Given the description of an element on the screen output the (x, y) to click on. 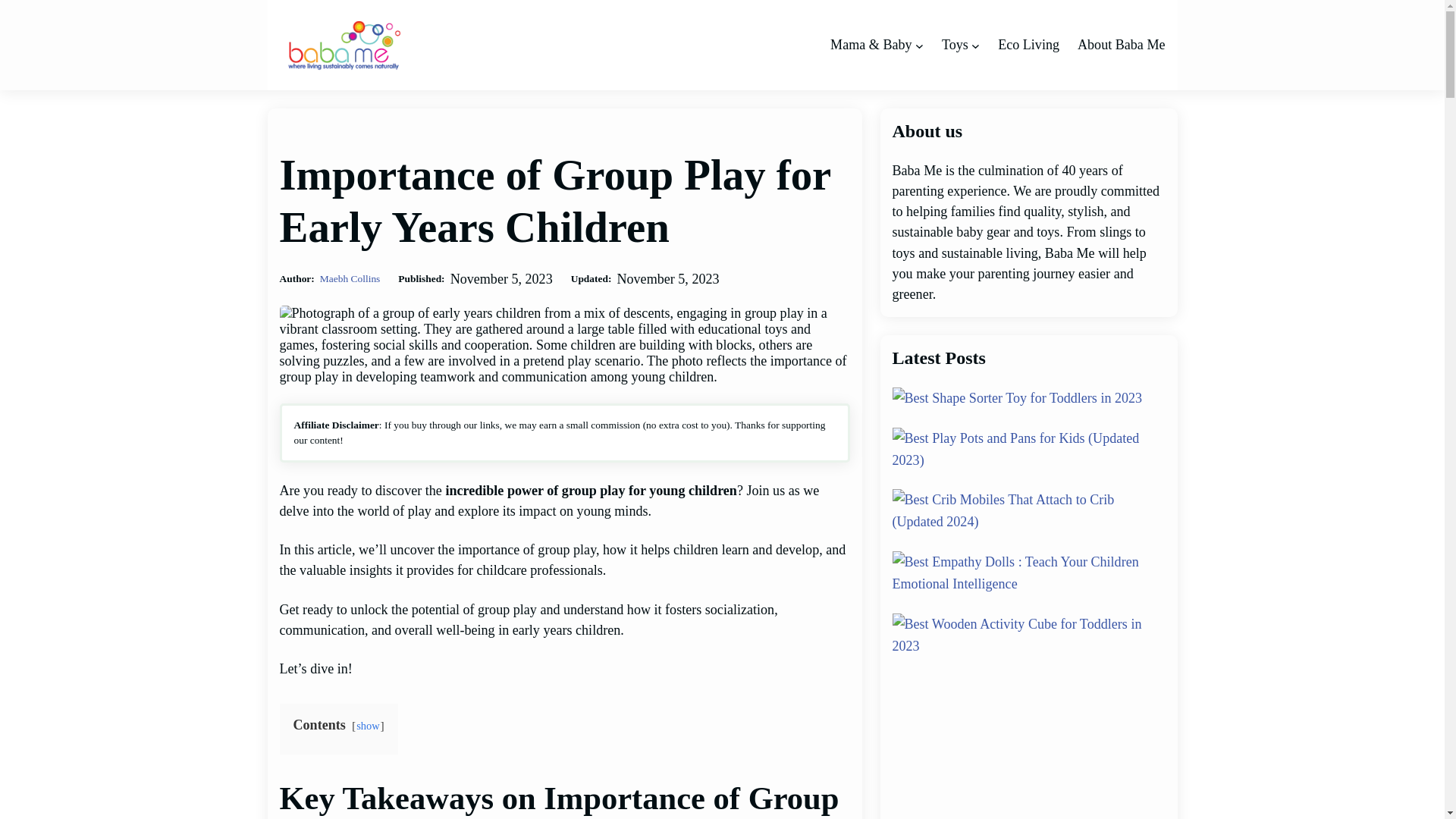
Best Shape Sorter Toy for Toddlers in 2023 4 (1016, 398)
About Baba Me (1120, 45)
Best Wooden Activity Cube for Toddlers in 2023 8 (1027, 635)
Toys (955, 45)
Eco Living (1028, 45)
show (368, 725)
Importance of Group Play for Early Years Children 1 (563, 344)
Maebh Collins (350, 278)
